Given the description of an element on the screen output the (x, y) to click on. 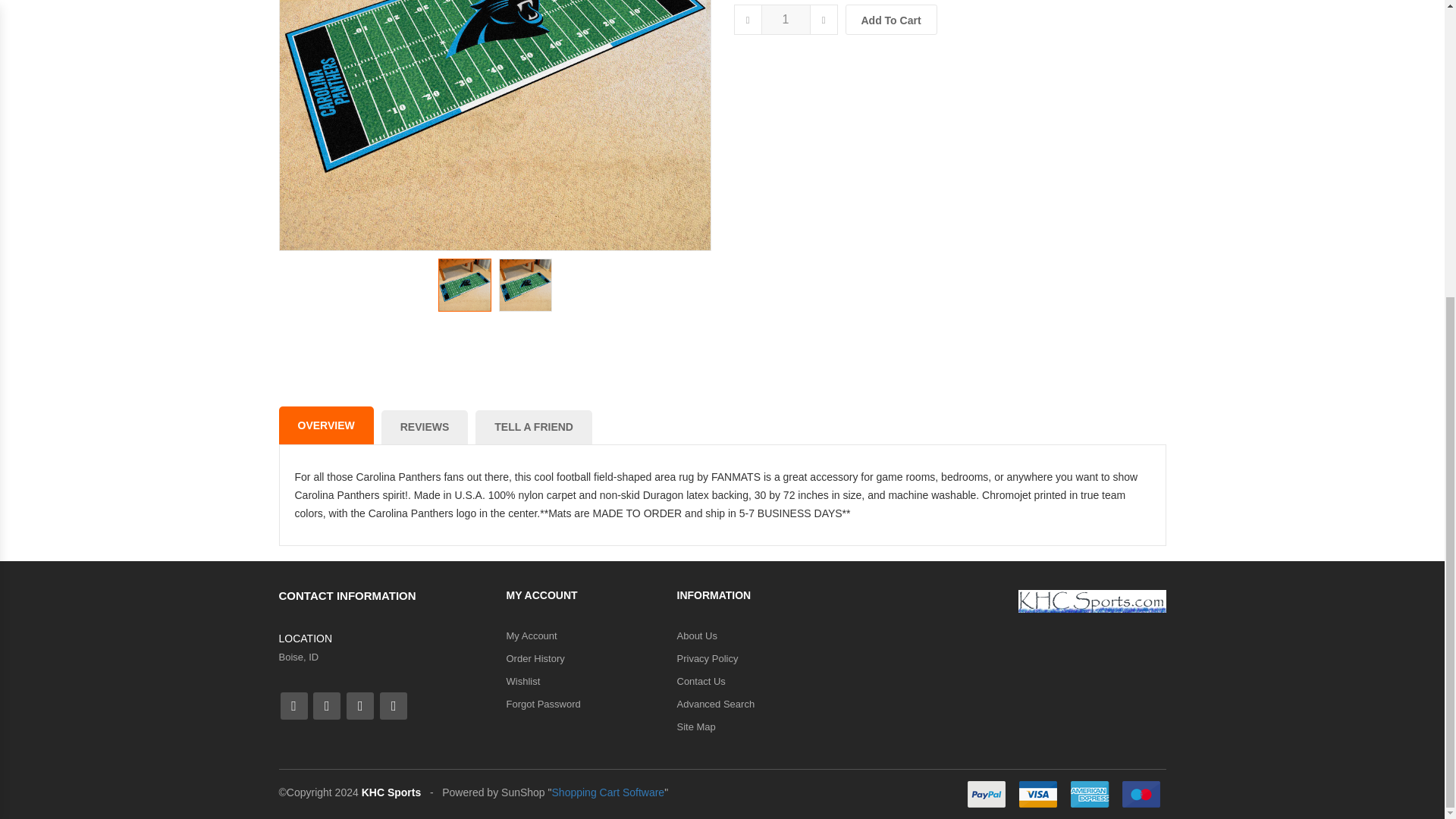
1 (785, 19)
